Given the description of an element on the screen output the (x, y) to click on. 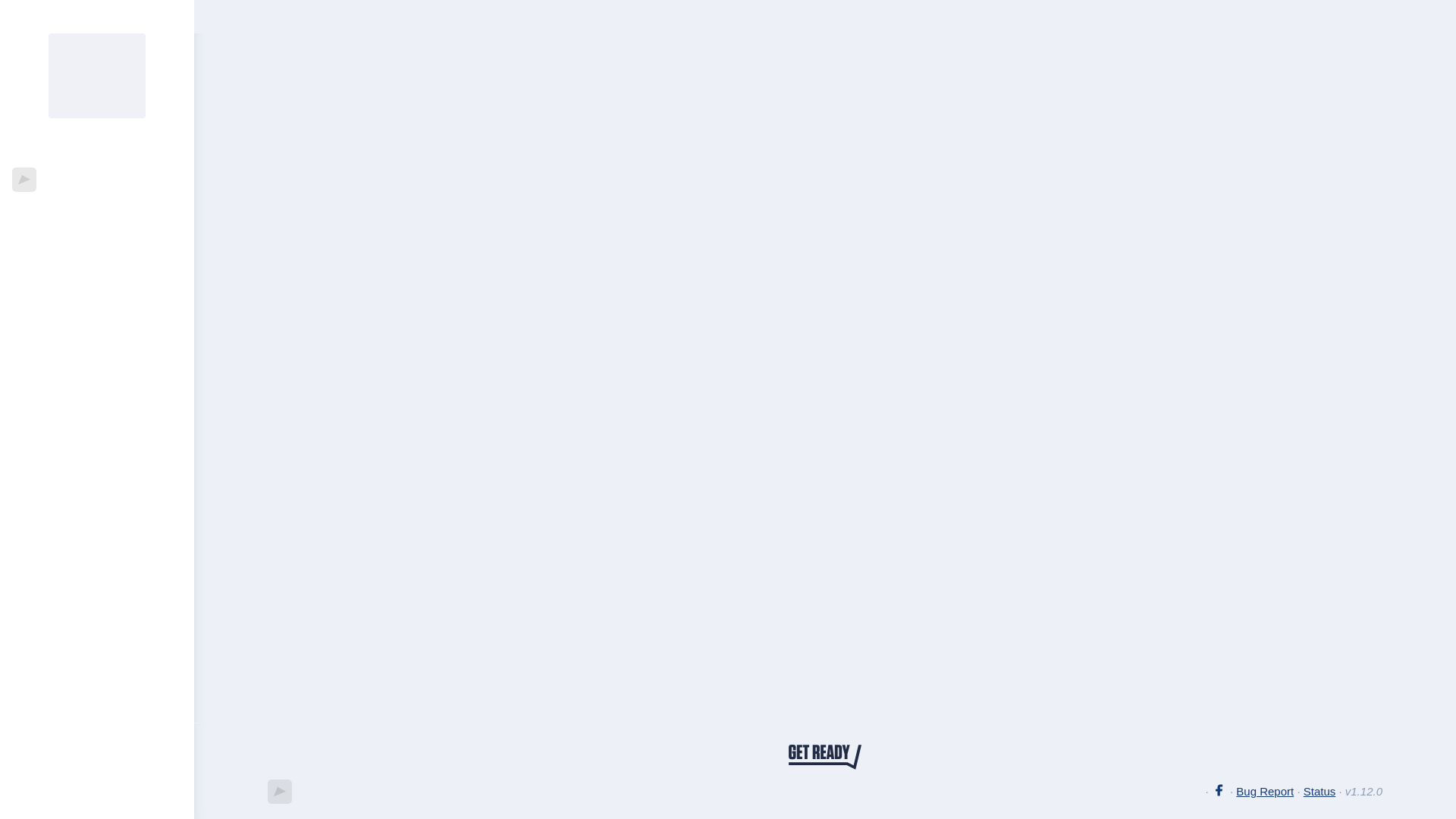
Report a bug or a data error (1265, 790)
Status (1319, 790)
Bug Report (1265, 790)
get-ready-logo (825, 758)
View status of various Disaster Dashboard services (1319, 790)
